Given the description of an element on the screen output the (x, y) to click on. 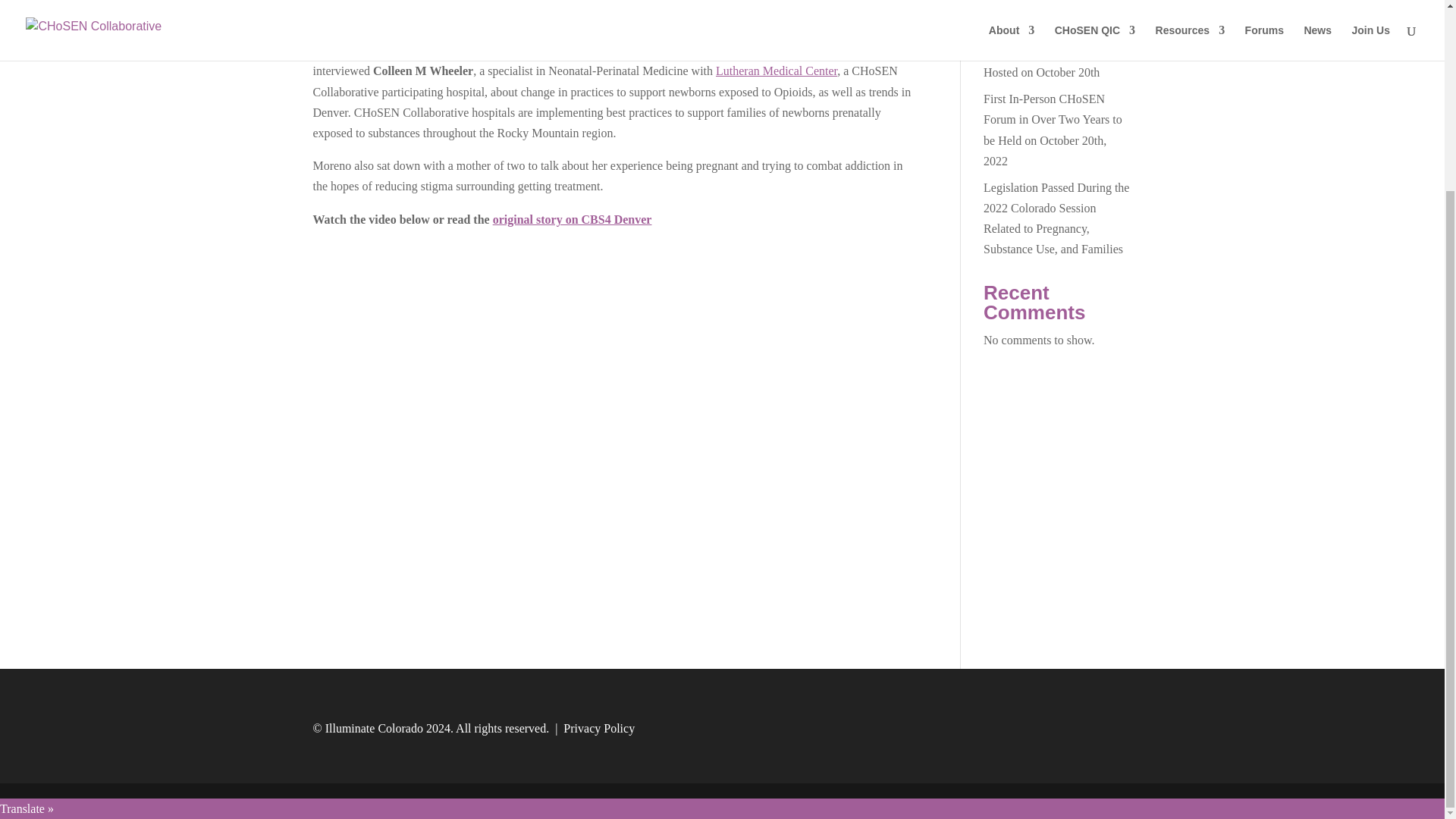
original story on CBS4 Denver (572, 238)
Lutheran Medical Center (776, 91)
Fall 2023 CHoSEN Forum Hosted on October 20th (1048, 2)
Privacy Policy (598, 748)
Fall 2022 CHoSEN Forum Hosted on October 20th (1048, 82)
April 2023 CHoSEN Forum Hosted on April 18th (1052, 34)
